Given the description of an element on the screen output the (x, y) to click on. 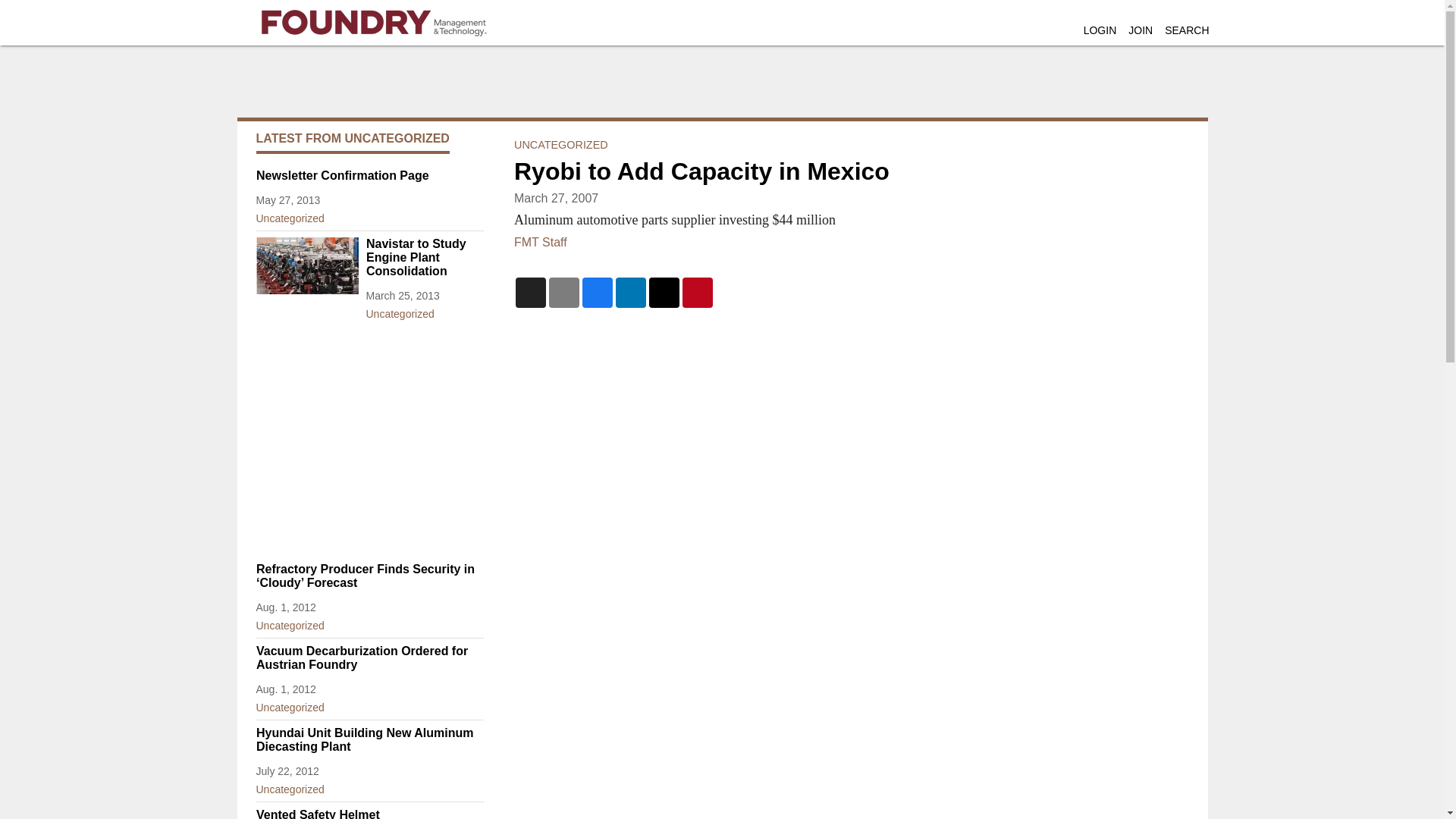
Vacuum Decarburization Ordered for Austrian Foundry (369, 657)
Uncategorized (369, 704)
Newsletter Confirmation Page (369, 175)
Navistar to Study Engine Plant Consolidation (424, 257)
Vented Safety Helmet (369, 813)
Hyundai Unit Building New Aluminum Diecasting Plant (369, 739)
Uncategorized (369, 622)
Uncategorized (369, 215)
Uncategorized (424, 311)
JOIN (1140, 30)
Uncategorized (369, 786)
SEARCH (1186, 30)
LOGIN (1099, 30)
